Given the description of an element on the screen output the (x, y) to click on. 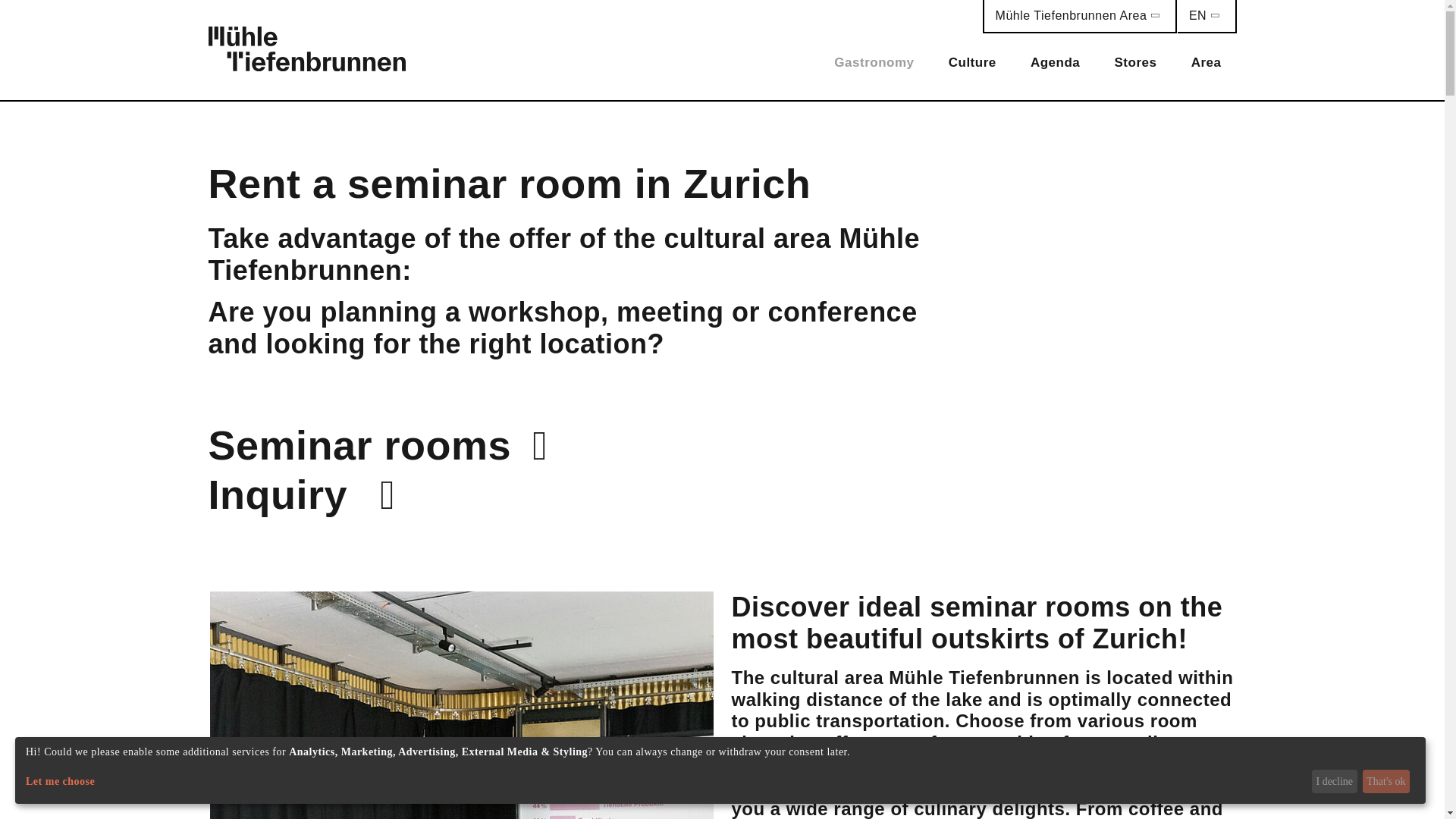
EN (1206, 16)
Area (1206, 63)
Culture (972, 63)
Gastronomy (873, 63)
Agenda (1054, 63)
Stores (1135, 63)
